Given the description of an element on the screen output the (x, y) to click on. 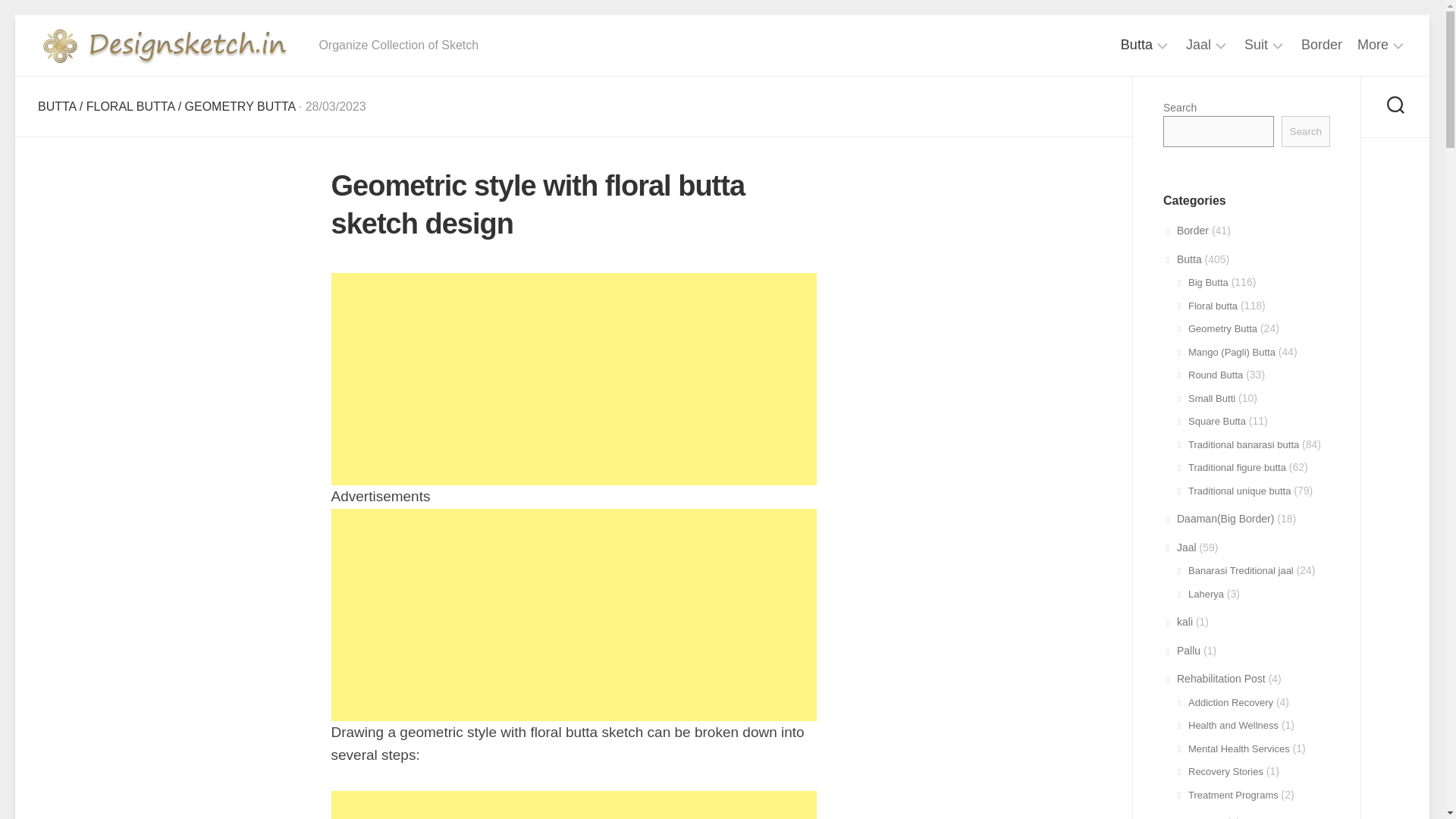
More (1372, 44)
Advertisement (572, 614)
Jaal (1198, 44)
Suit (1256, 44)
Butta (1137, 44)
Border (1321, 44)
Advertisement (721, 45)
Advertisement (572, 805)
